Given the description of an element on the screen output the (x, y) to click on. 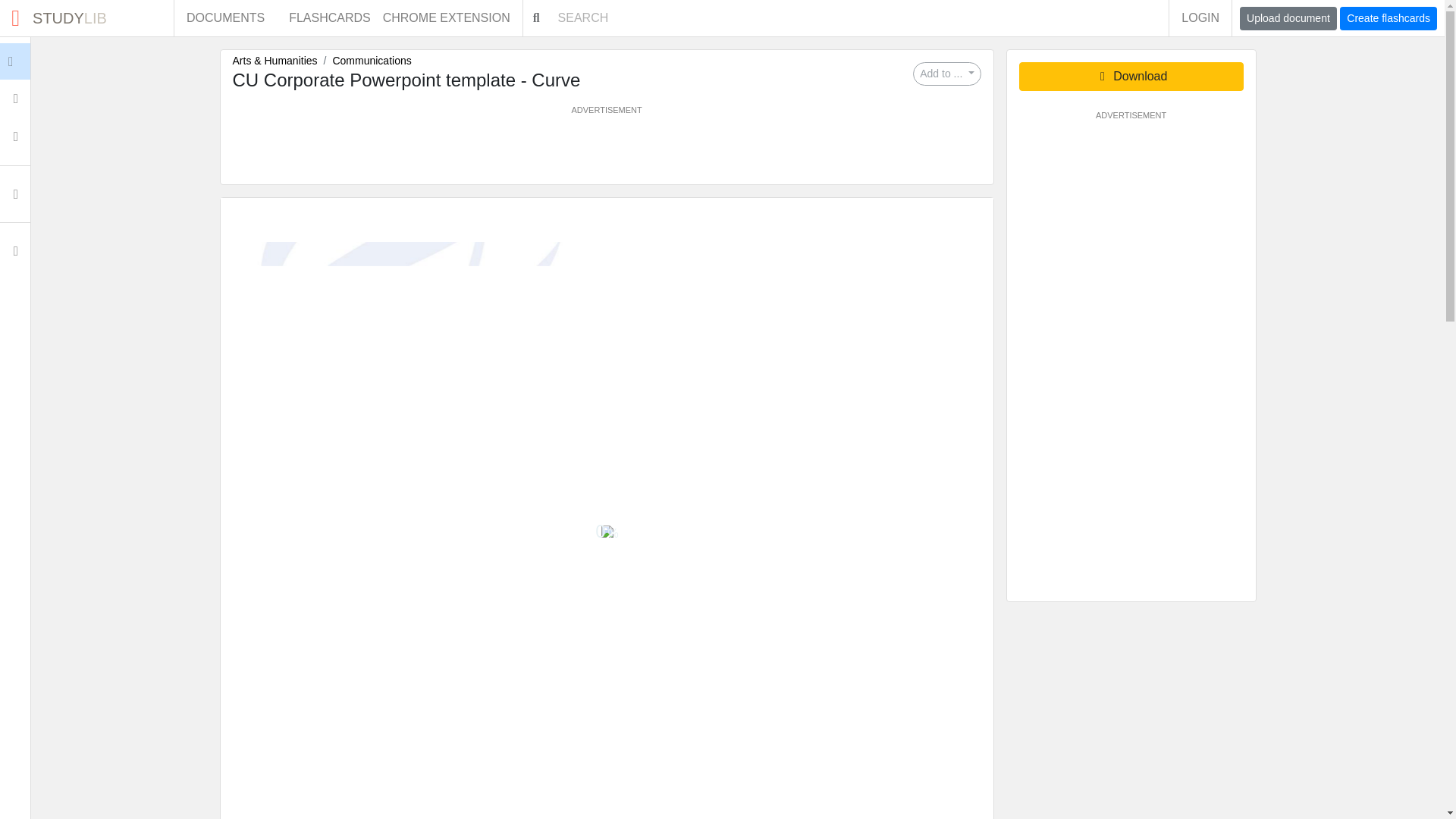
Advertisement (605, 150)
Create flashcards (1388, 18)
CHROME EXTENSION (452, 18)
Communications (370, 60)
FLASHCARDS (86, 18)
LOGIN (329, 18)
Add to ... (1200, 18)
DOCUMENTS (946, 73)
Upload document (225, 18)
